Given the description of an element on the screen output the (x, y) to click on. 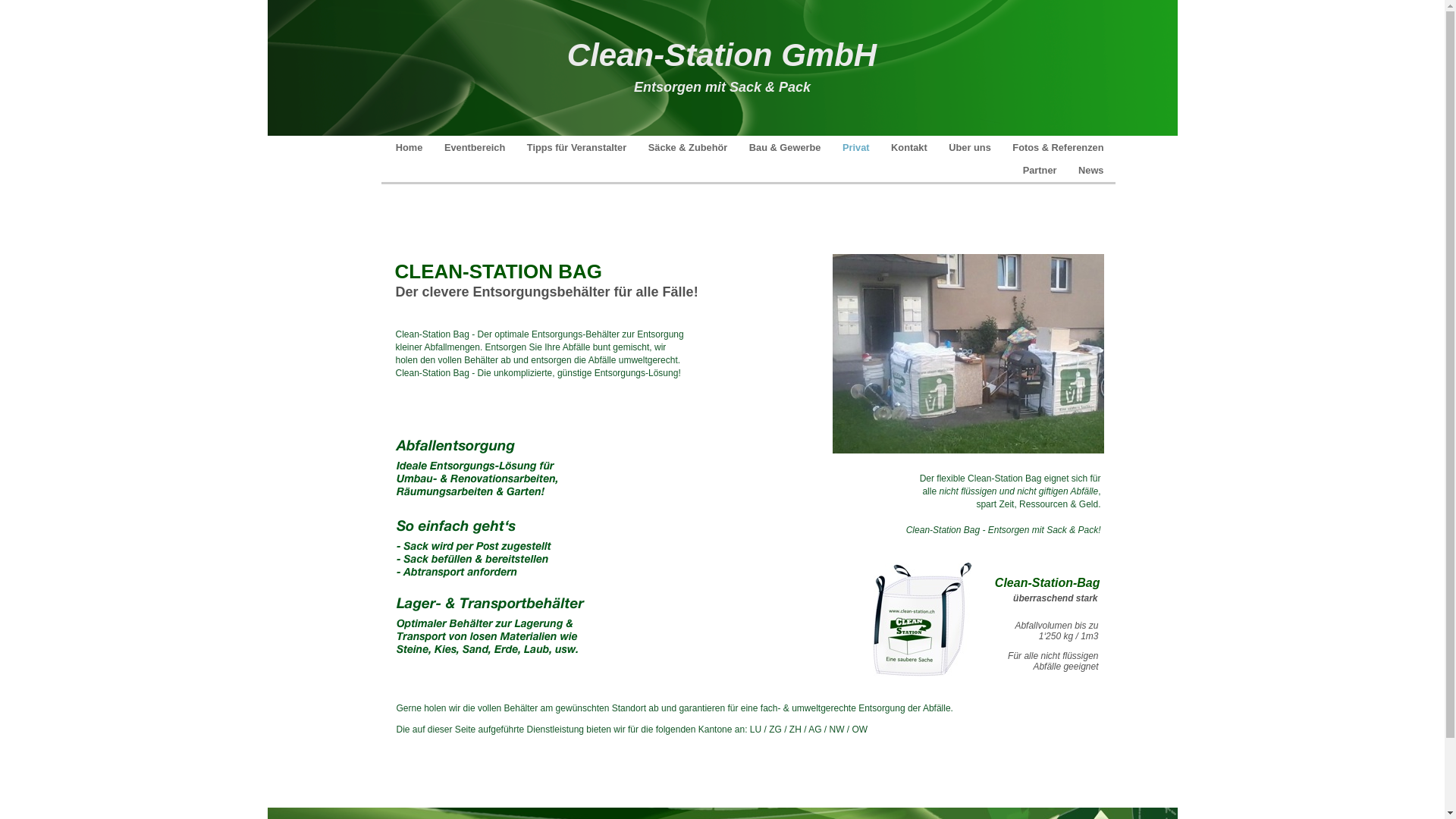
Bau & Gewerbe Element type: text (786, 147)
Fotos & Referenzen Element type: text (1057, 147)
Partner Element type: text (1040, 169)
Privat Element type: text (856, 147)
Home Element type: text (410, 147)
Kontakt Element type: text (910, 147)
News Element type: text (1090, 169)
Clean-Station_Bag.html Element type: hover (921, 675)
Eventbereich Element type: text (475, 147)
